Given the description of an element on the screen output the (x, y) to click on. 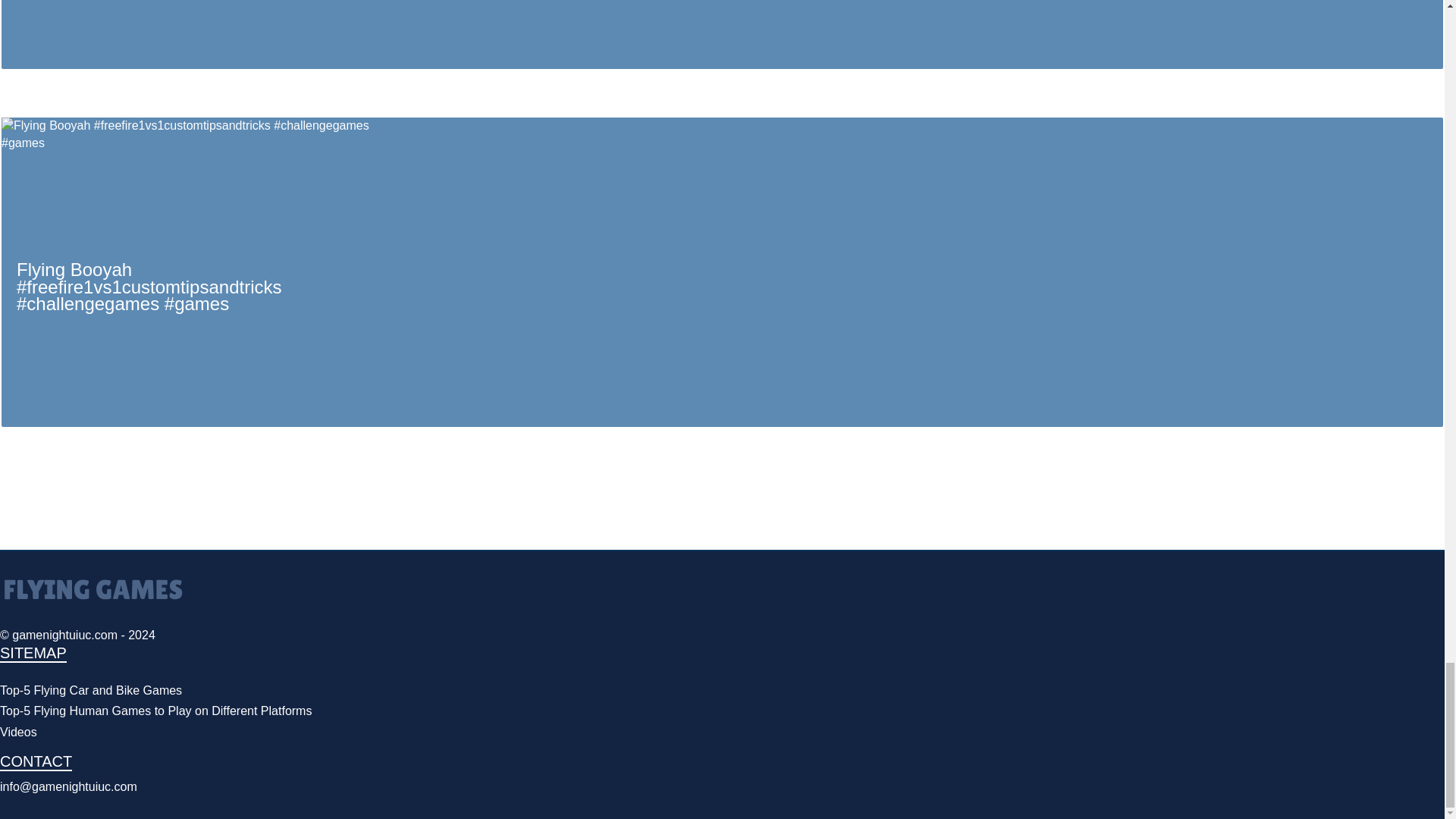
Top-5 Flying Human Games to Play on Different Platforms (155, 710)
Top-5 Flying Car and Bike Games (91, 689)
Videos (18, 731)
